Given the description of an element on the screen output the (x, y) to click on. 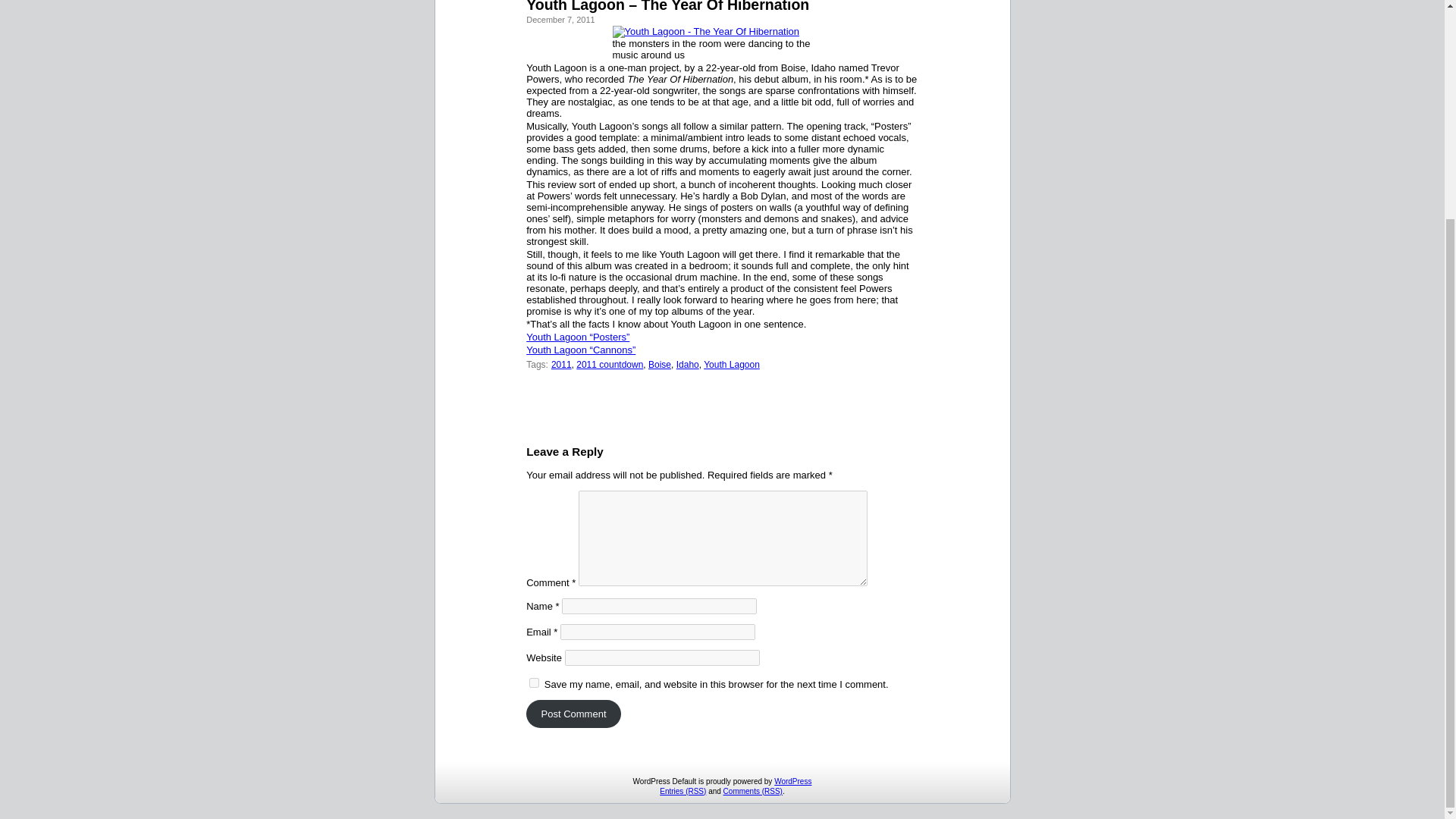
2011 countdown (609, 363)
Boise (659, 363)
Idaho (687, 363)
Post Comment (573, 713)
yes (533, 682)
2011 (561, 363)
Youth Lagoon - The Year Of Hibernation (705, 31)
WordPress (792, 781)
Youth Lagoon (731, 363)
Post Comment (573, 713)
